Given the description of an element on the screen output the (x, y) to click on. 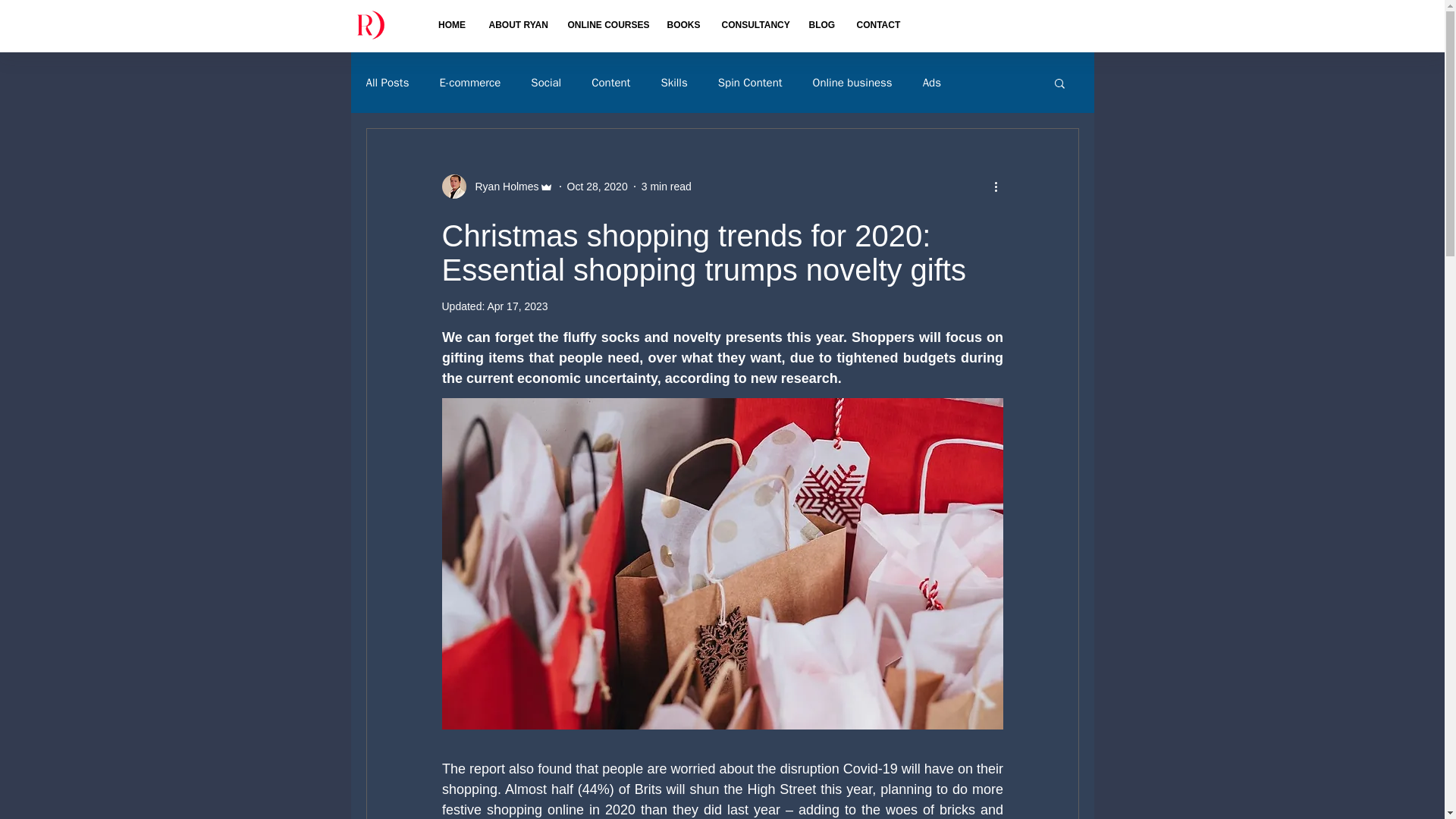
BLOG (821, 24)
3 min read (666, 186)
Spin Content (750, 83)
Ryan Holmes (501, 186)
Content (610, 83)
Apr 17, 2023 (516, 306)
Skills (674, 83)
Ryan Holmes (497, 186)
LOGO RYANHOLMES 2.png (369, 24)
E-commerce (469, 83)
